Given the description of an element on the screen output the (x, y) to click on. 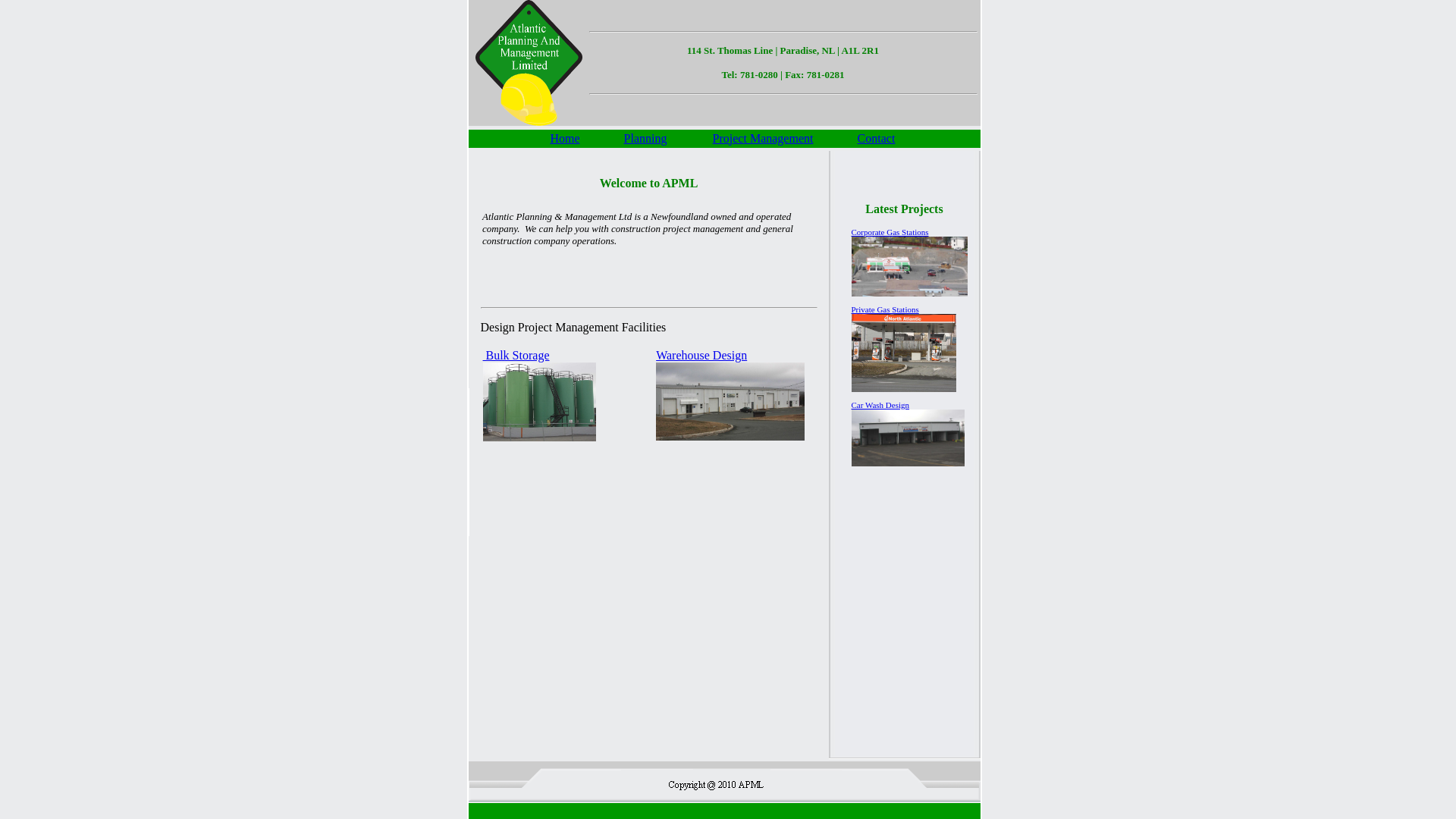
Contact Element type: text (876, 137)
 Bulk Storage Element type: text (538, 395)
Project Management Element type: text (762, 137)
Private Gas Stations Element type: text (902, 348)
Car Wash Design Element type: text (906, 433)
Planning Element type: text (645, 137)
Warehouse Design Element type: text (729, 395)
Home Element type: text (564, 137)
Corporate Gas Stations Element type: text (908, 262)
